Given the description of an element on the screen output the (x, y) to click on. 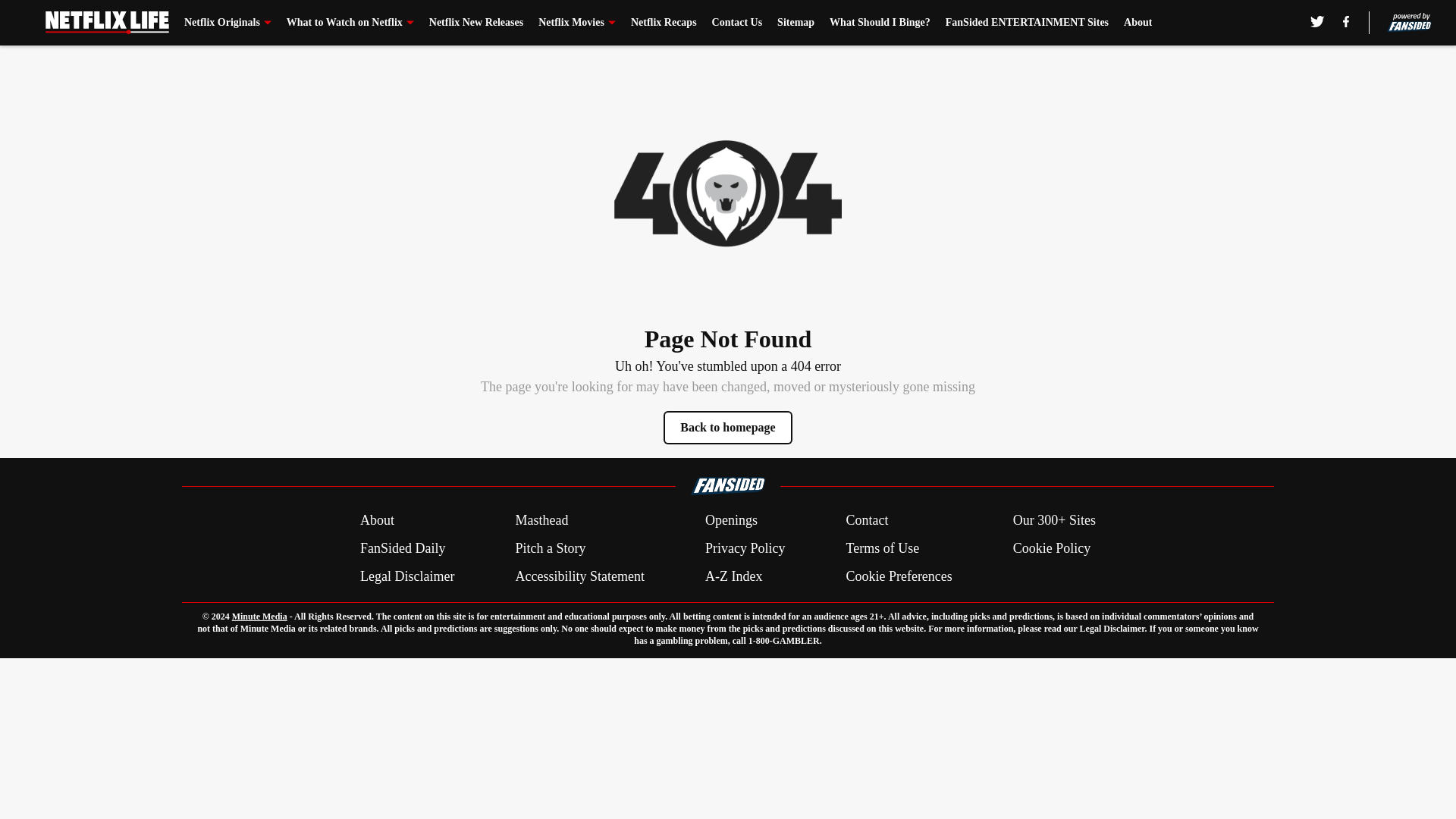
Netflix Movies (576, 22)
Netflix Originals (227, 22)
Error image (727, 193)
What to Watch on Netflix (349, 22)
Netflix New Releases (475, 22)
